Given the description of an element on the screen output the (x, y) to click on. 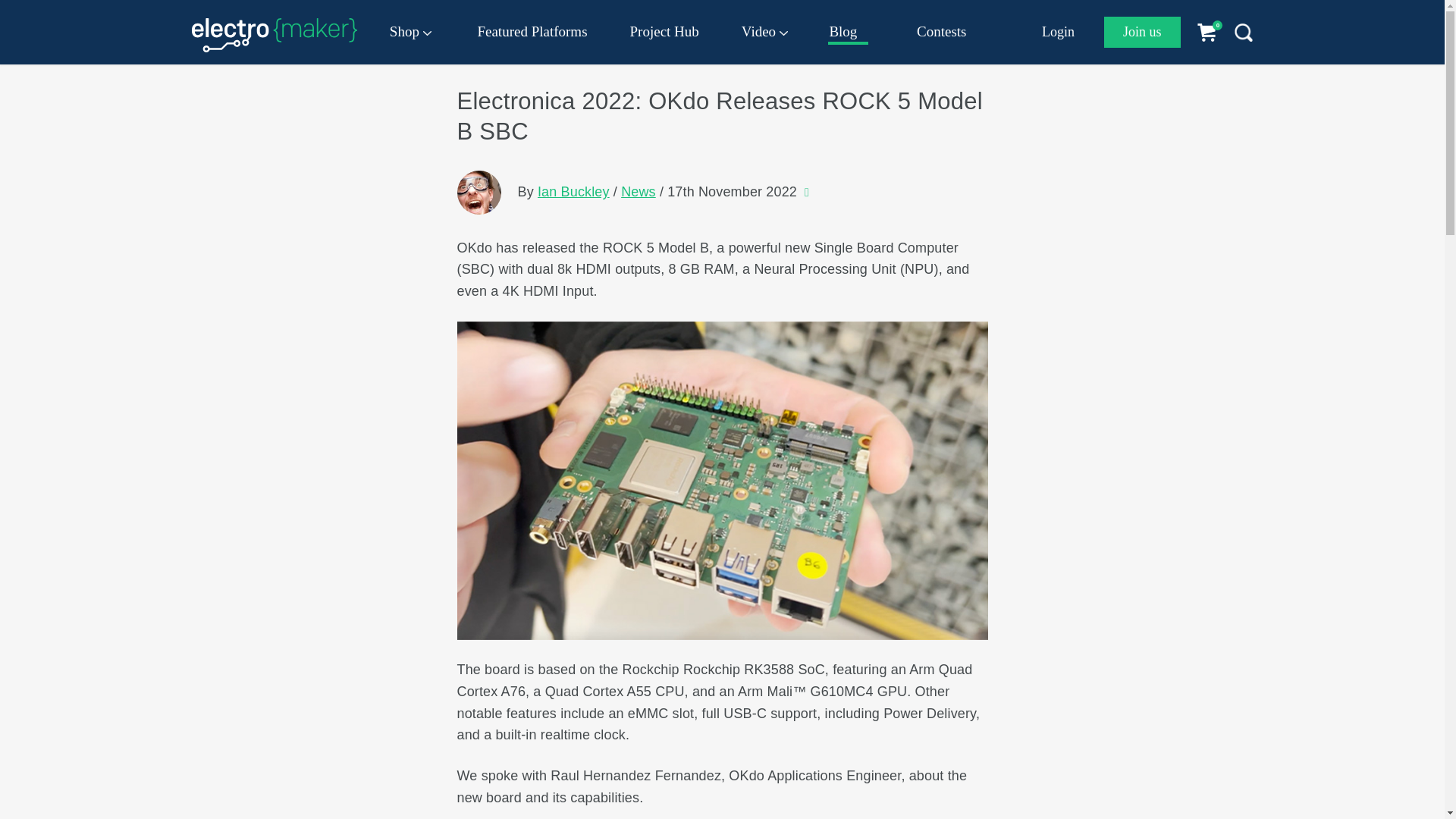
Ian Buckley (573, 191)
News (638, 191)
Join Us (1141, 31)
Cart (1212, 31)
Ian Buckley (478, 192)
